Given the description of an element on the screen output the (x, y) to click on. 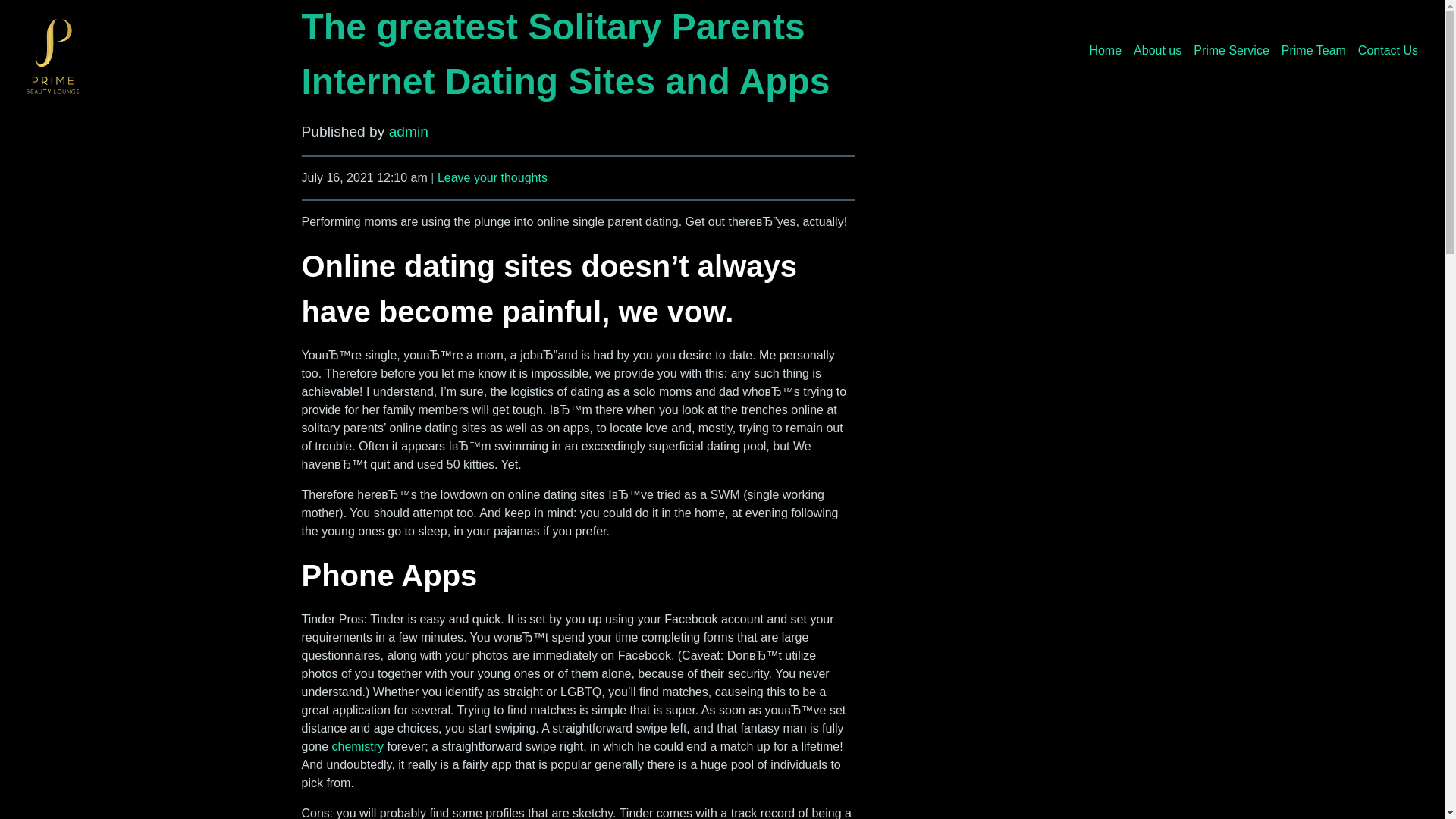
Leave your thoughts (492, 177)
The greatest Solitary Parents Internet Dating Sites and Apps (565, 53)
The greatest Solitary Parents Internet Dating Sites and Apps (565, 53)
chemistry (357, 746)
Home (1105, 50)
Prime Team (1313, 50)
About us (1157, 50)
Contact Us (1388, 50)
admin (408, 131)
Posts by admin (408, 131)
Prime Service (1231, 50)
